Given the description of an element on the screen output the (x, y) to click on. 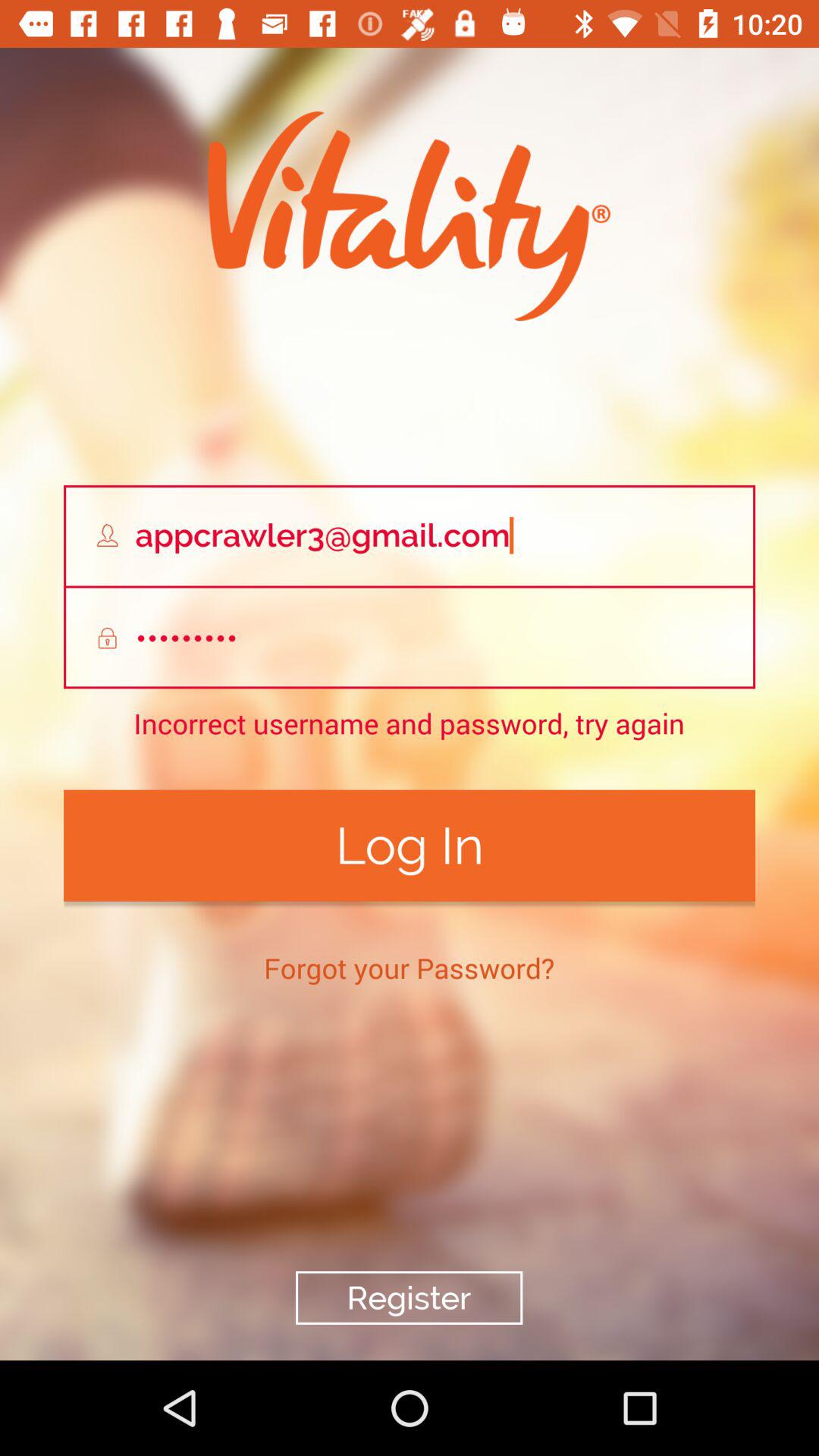
launch the register (408, 1297)
